Given the description of an element on the screen output the (x, y) to click on. 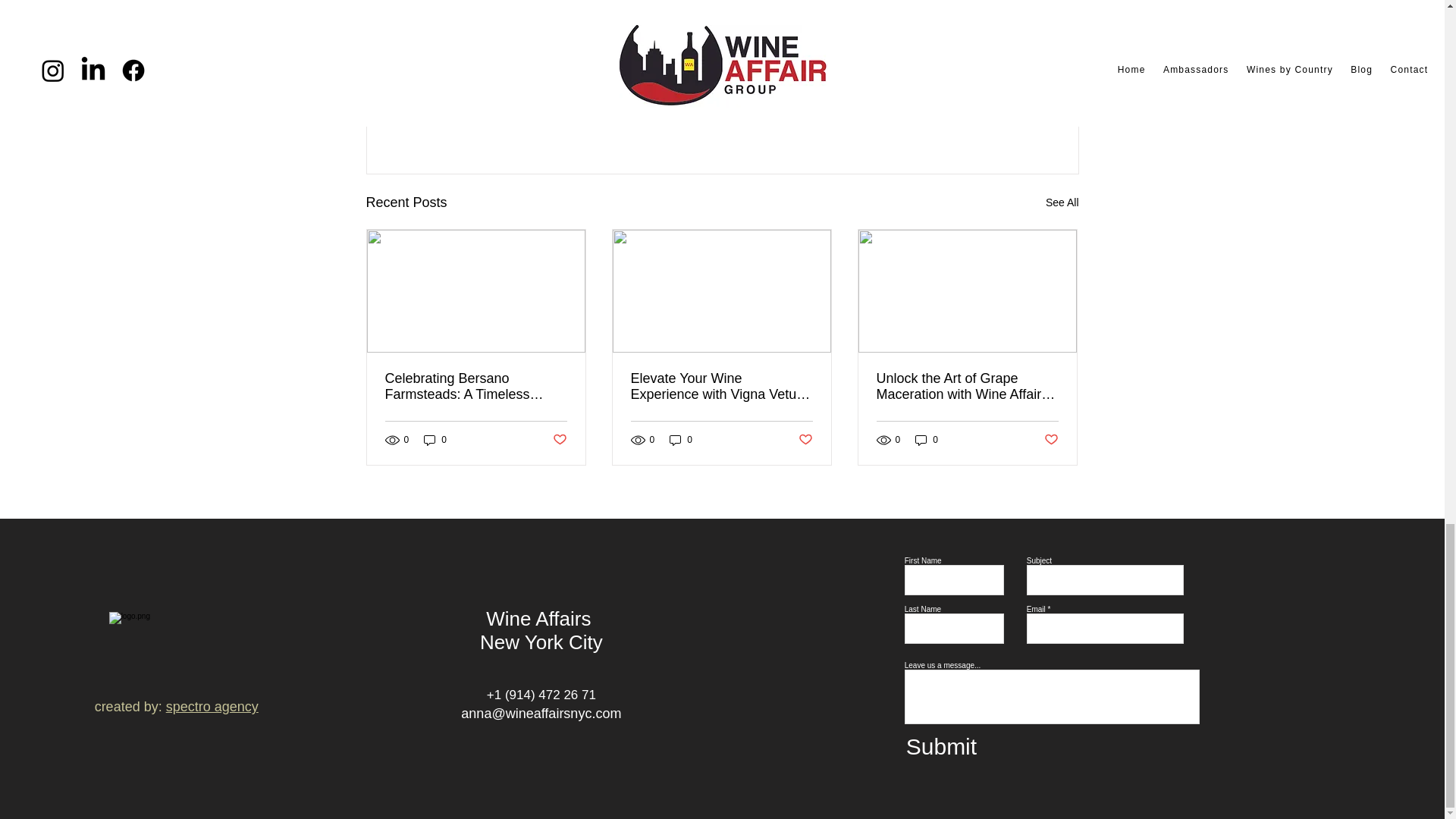
0 (926, 440)
Post not marked as liked (1050, 439)
Post not marked as liked (995, 119)
Post not marked as liked (804, 439)
spectro agency (212, 706)
Post not marked as liked (558, 439)
0 (681, 440)
Submit (951, 746)
0 (435, 440)
